Given the description of an element on the screen output the (x, y) to click on. 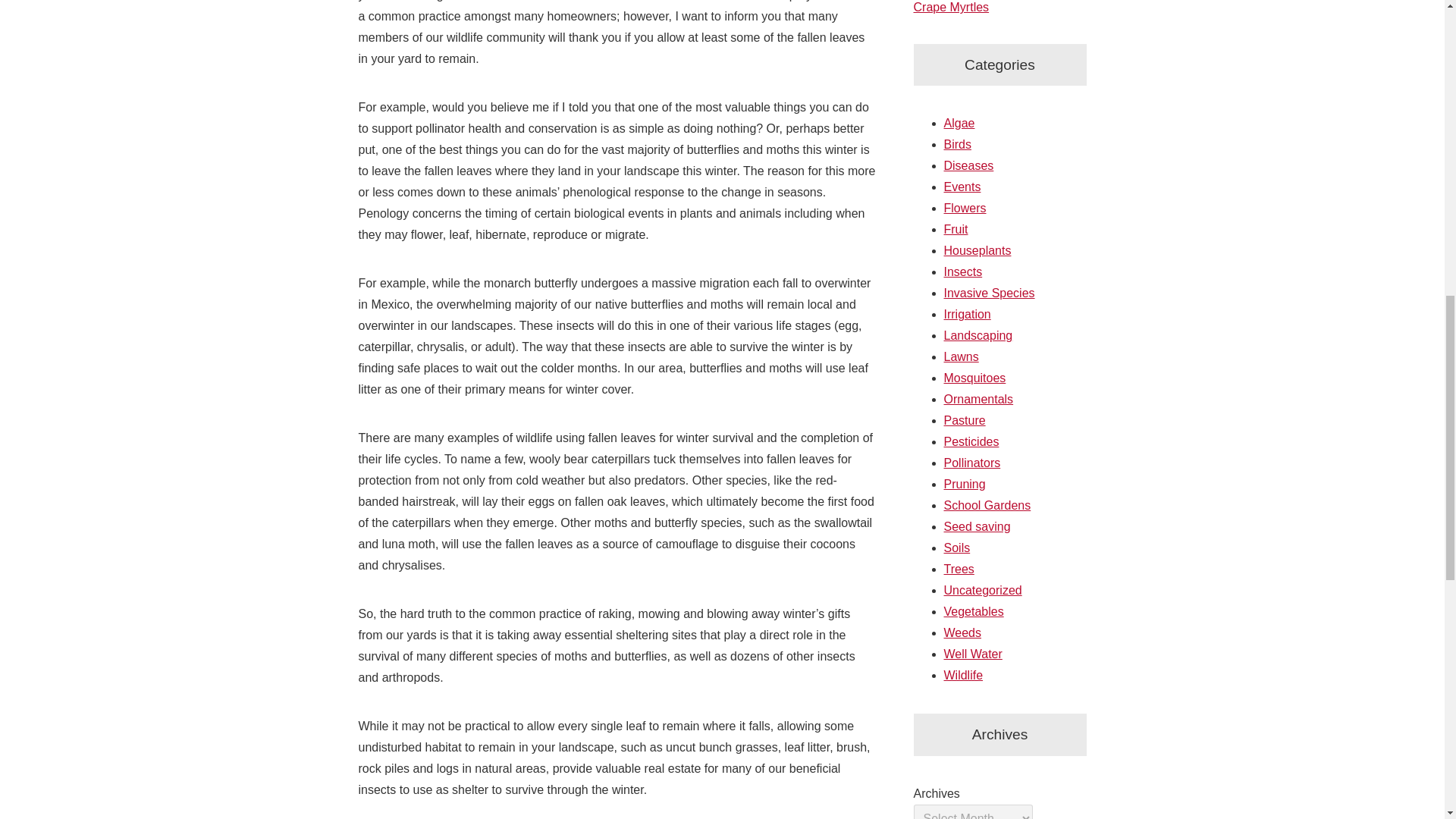
Events (961, 186)
Birds (957, 144)
Avoid Aggressively Pruning Crape Myrtles (985, 6)
Insects (962, 271)
Lawns (960, 356)
Mosquitoes (974, 377)
Landscaping (977, 335)
Diseases (967, 164)
Irrigation (966, 314)
Houseplants (976, 250)
